Given the description of an element on the screen output the (x, y) to click on. 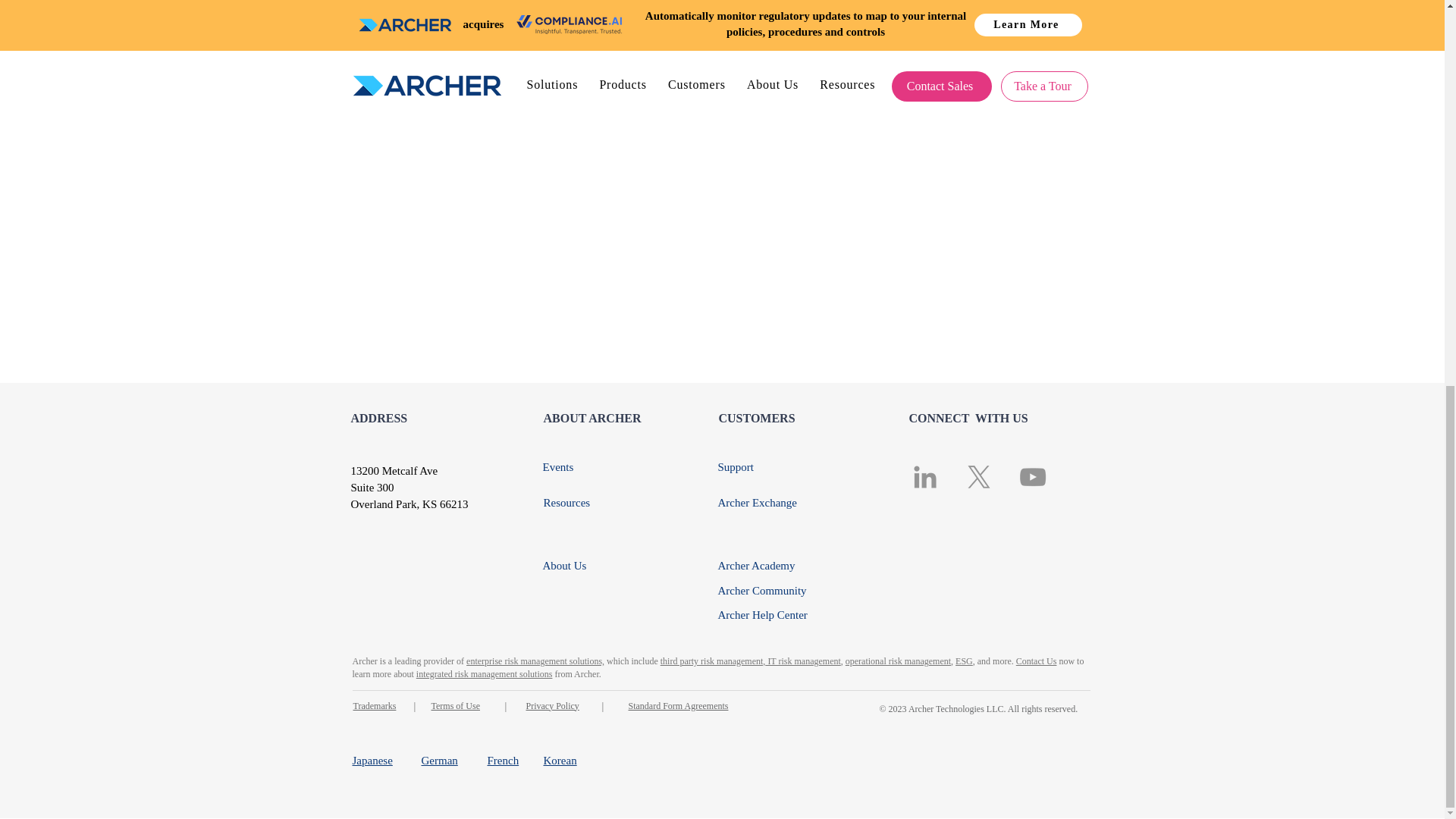
Read the Report (678, 0)
Read the Paper (910, 0)
